Given the description of an element on the screen output the (x, y) to click on. 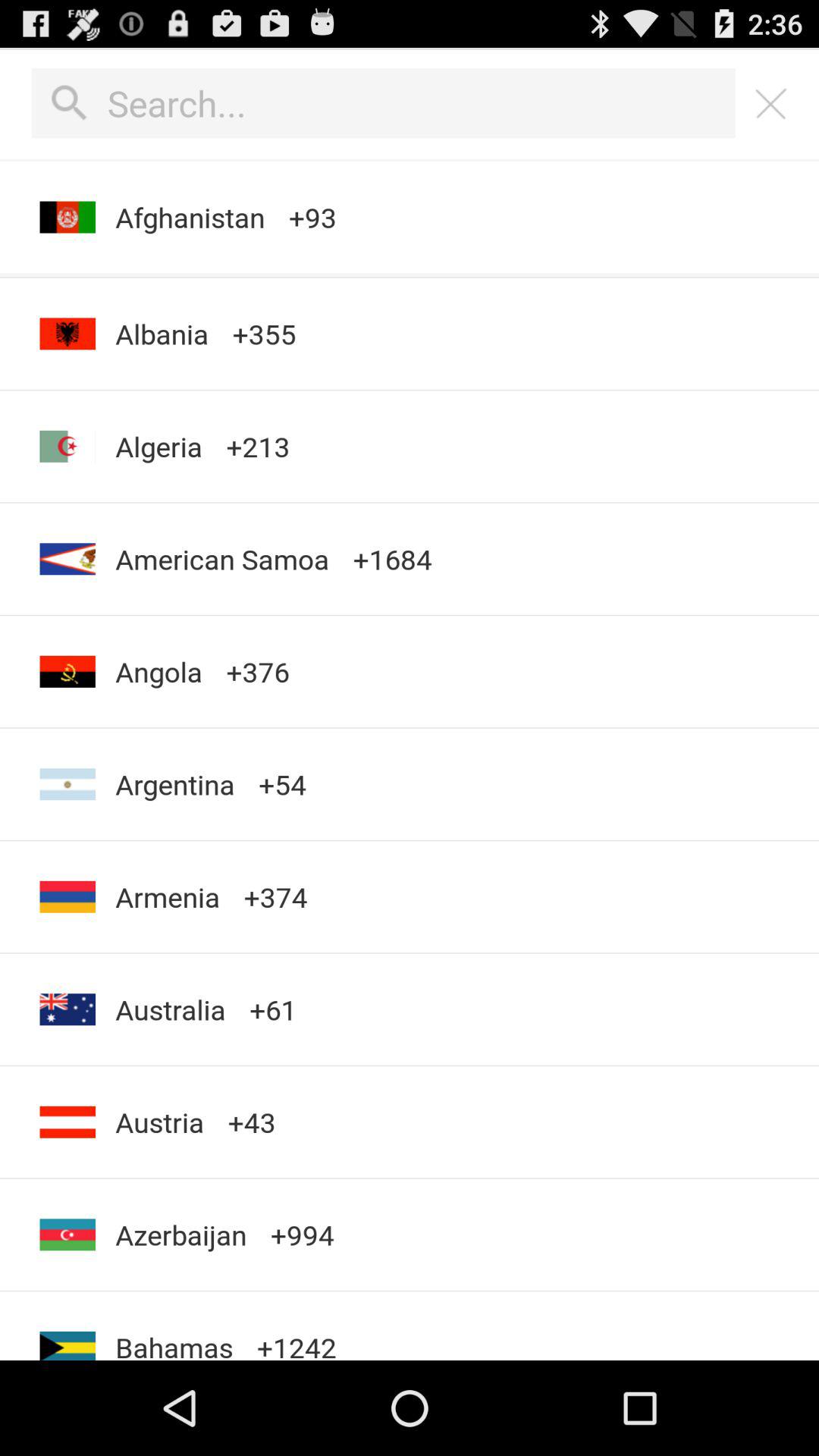
open item below the albania icon (158, 446)
